Given the description of an element on the screen output the (x, y) to click on. 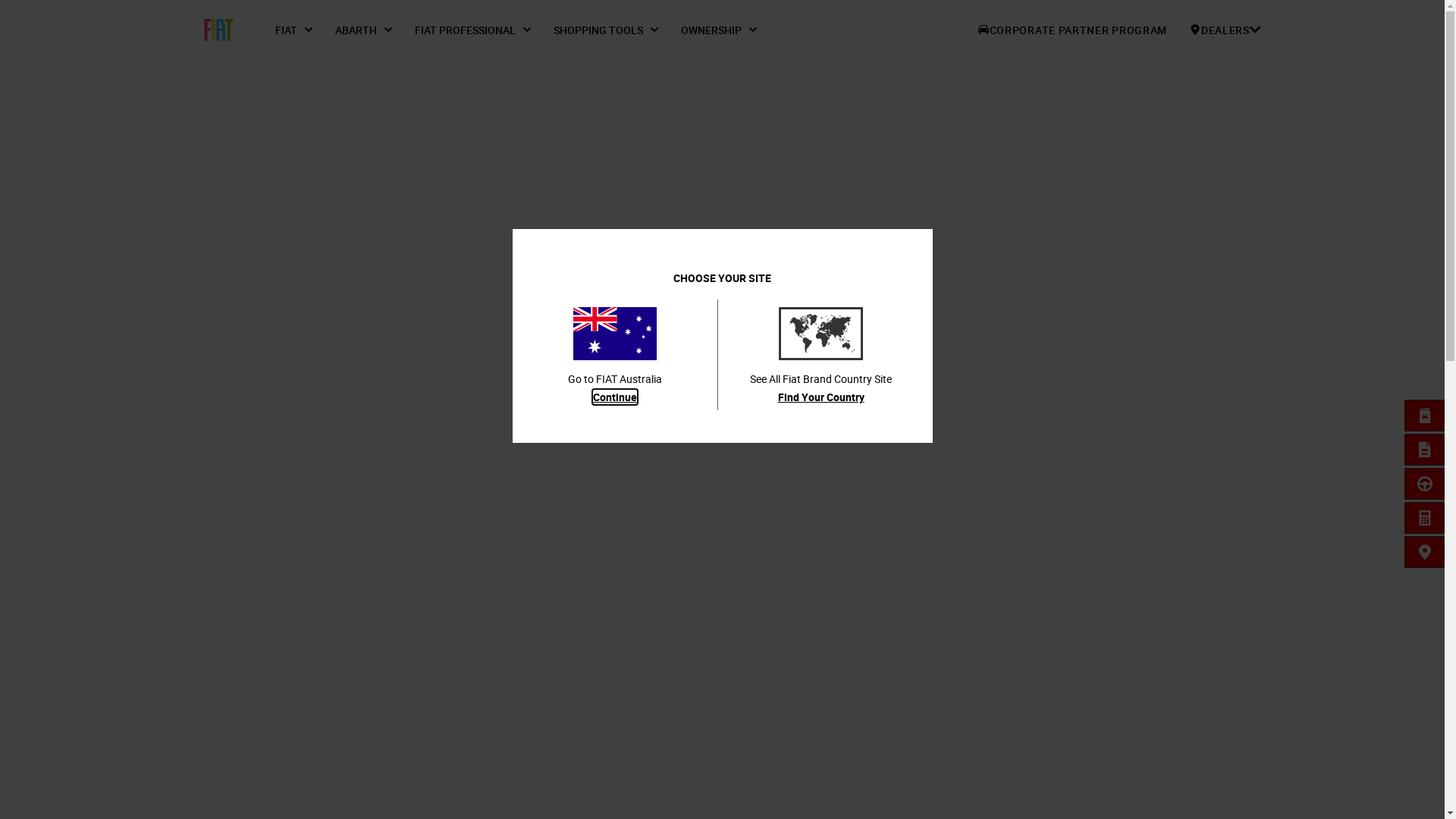
BROCHURE Element type: text (1424, 415)
ABARTH Element type: text (363, 30)
TEST DRIVE Element type: text (1424, 483)
Continue Element type: text (615, 396)
OWNERSHIP Element type: text (718, 30)
Find Your Country Element type: text (821, 396)
SHOPPING TOOLS Element type: text (605, 30)
FIAT Element type: text (293, 30)
PRICING Element type: text (1424, 517)
CORPORATE PARTNER PROGRAM Element type: text (1072, 30)
FIND A DEALER Element type: text (1424, 551)
DEALERS Element type: text (1224, 30)
REQUEST A QUOTE Element type: text (1424, 449)
FIAT PROFESSIONAL Element type: text (472, 30)
